Given the description of an element on the screen output the (x, y) to click on. 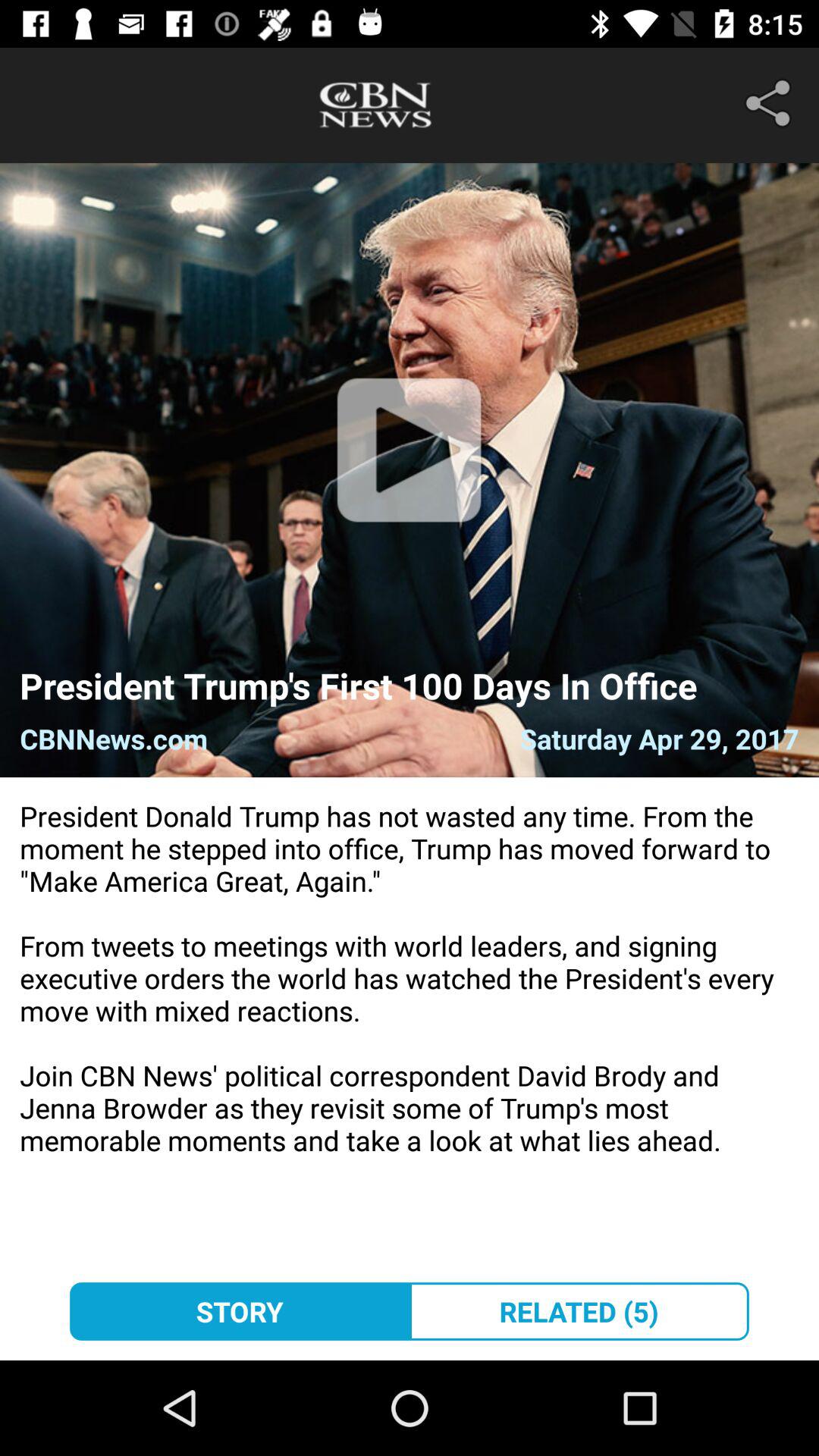
click related (5) (579, 1311)
